Given the description of an element on the screen output the (x, y) to click on. 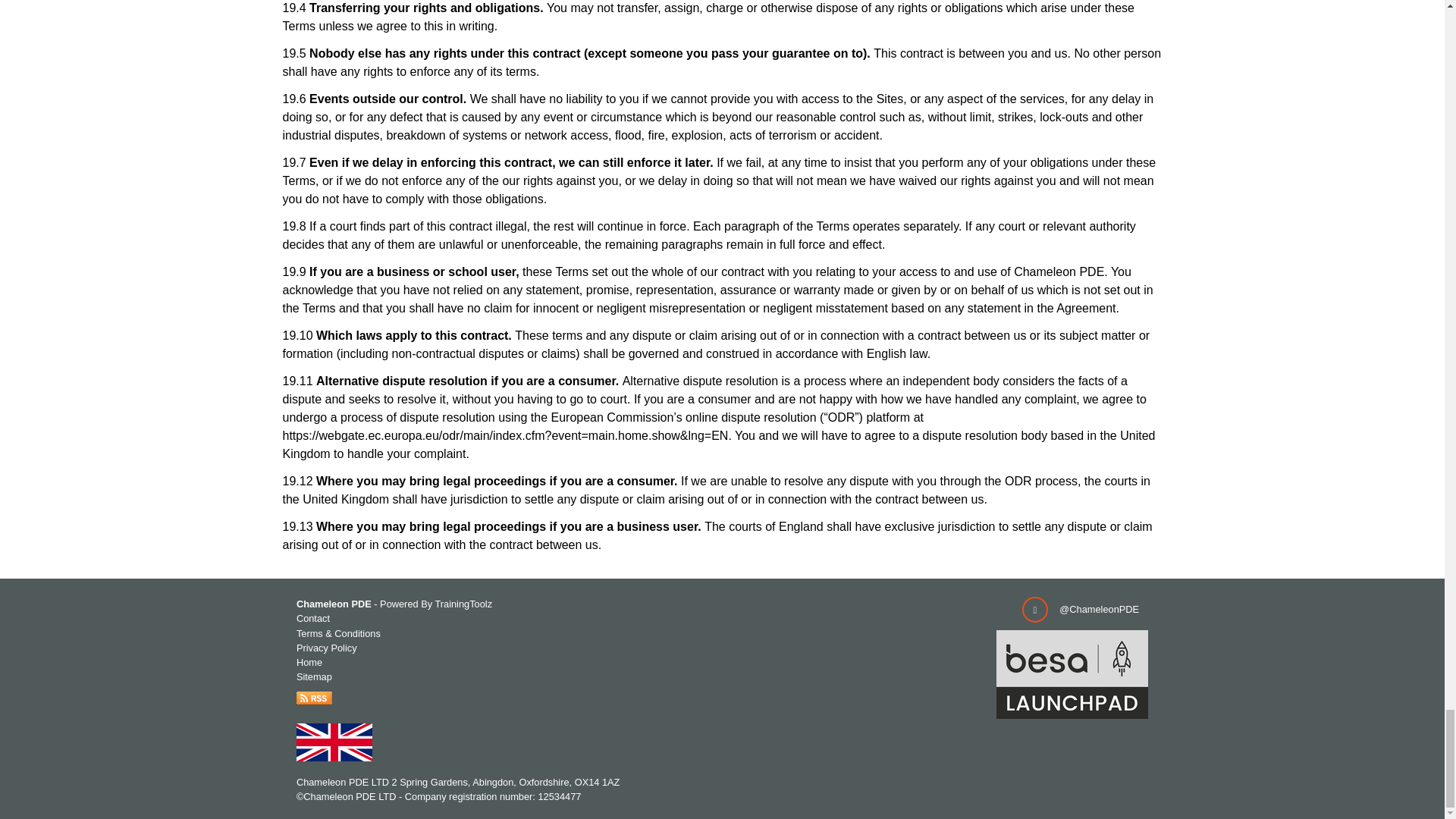
Contact (313, 618)
TrainingToolz (462, 603)
Sitemap (314, 676)
Home (309, 662)
Privacy Policy (326, 647)
